Given the description of an element on the screen output the (x, y) to click on. 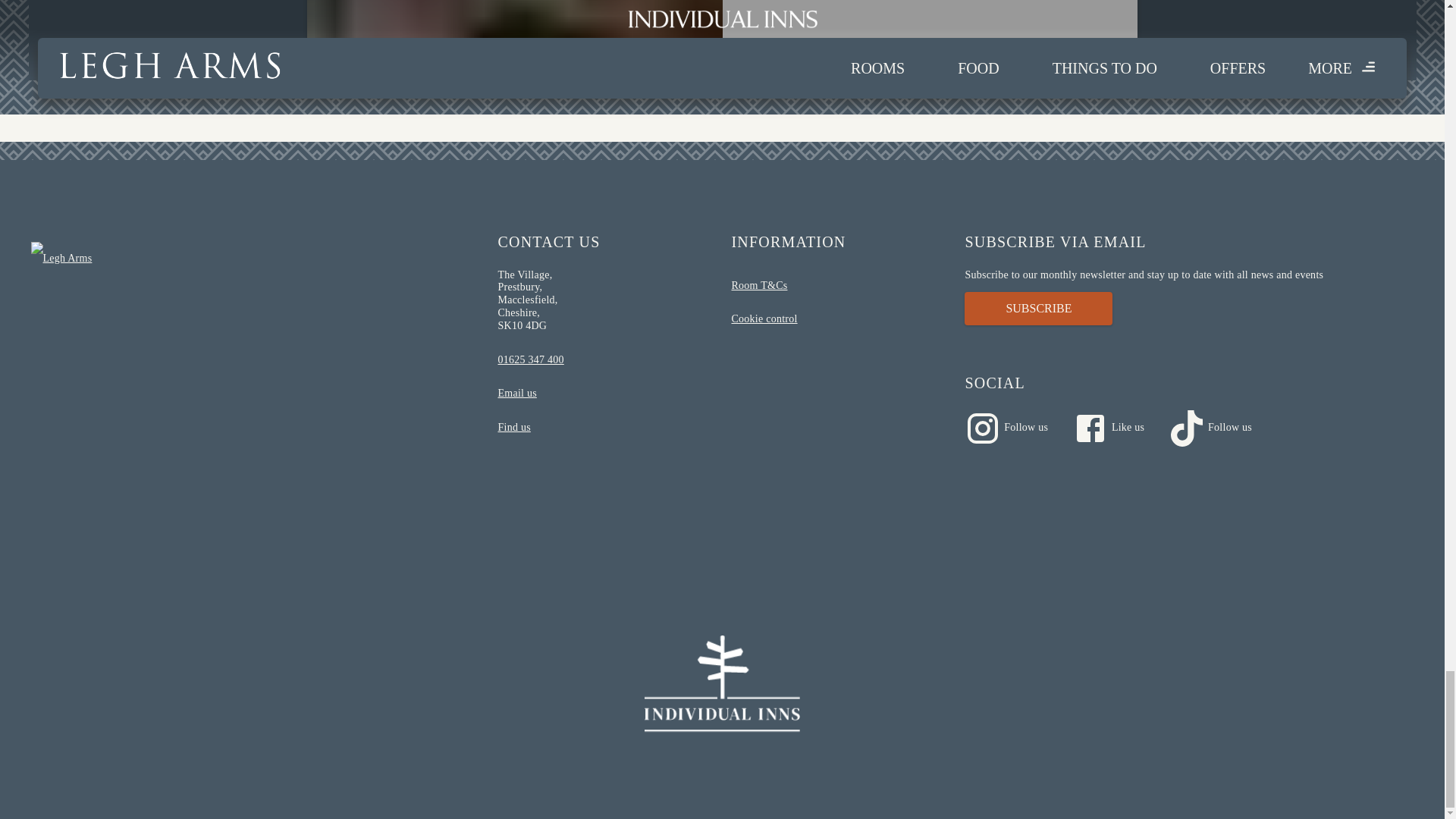
Find us (605, 428)
Email us (605, 393)
01625 347 400 (605, 360)
